Given the description of an element on the screen output the (x, y) to click on. 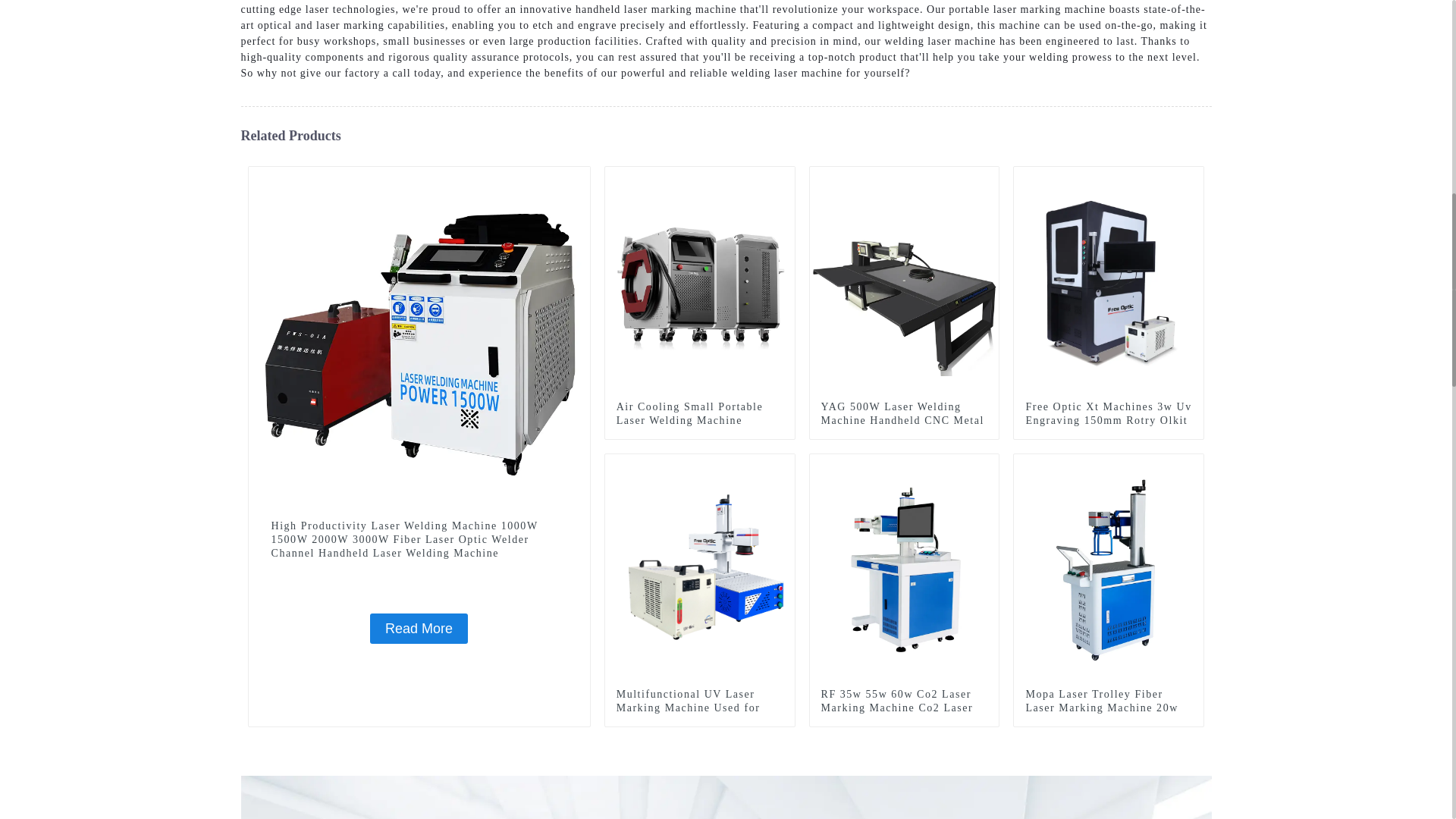
Air Cooling Small Portable Laser Welding Machine (699, 413)
1 (782, 178)
1 (1192, 178)
Air Cooling Small Portable Laser Welding Machine (699, 280)
